Given the description of an element on the screen output the (x, y) to click on. 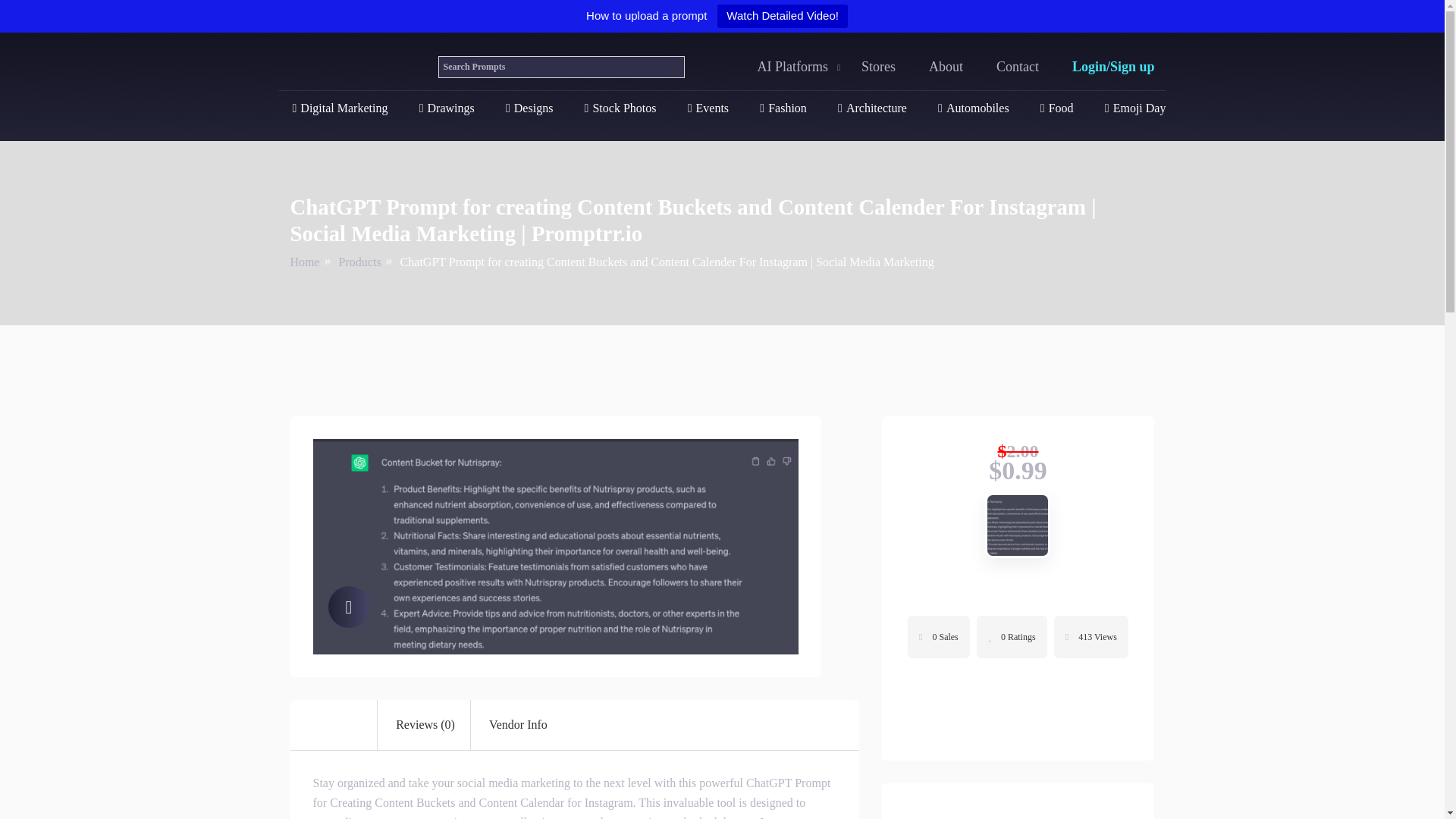
AI Platforms (792, 66)
Fashion (783, 107)
Designs (529, 107)
Stores (878, 66)
Stock Photos (620, 107)
Emoji Day (1135, 107)
About (945, 66)
Digital Marketing (340, 107)
Drawings (446, 107)
Promptrr.io (346, 64)
Food (1057, 107)
Architecture (872, 107)
Automobiles (973, 107)
Events (708, 107)
Watch Detailed Video! (782, 15)
